Given the description of an element on the screen output the (x, y) to click on. 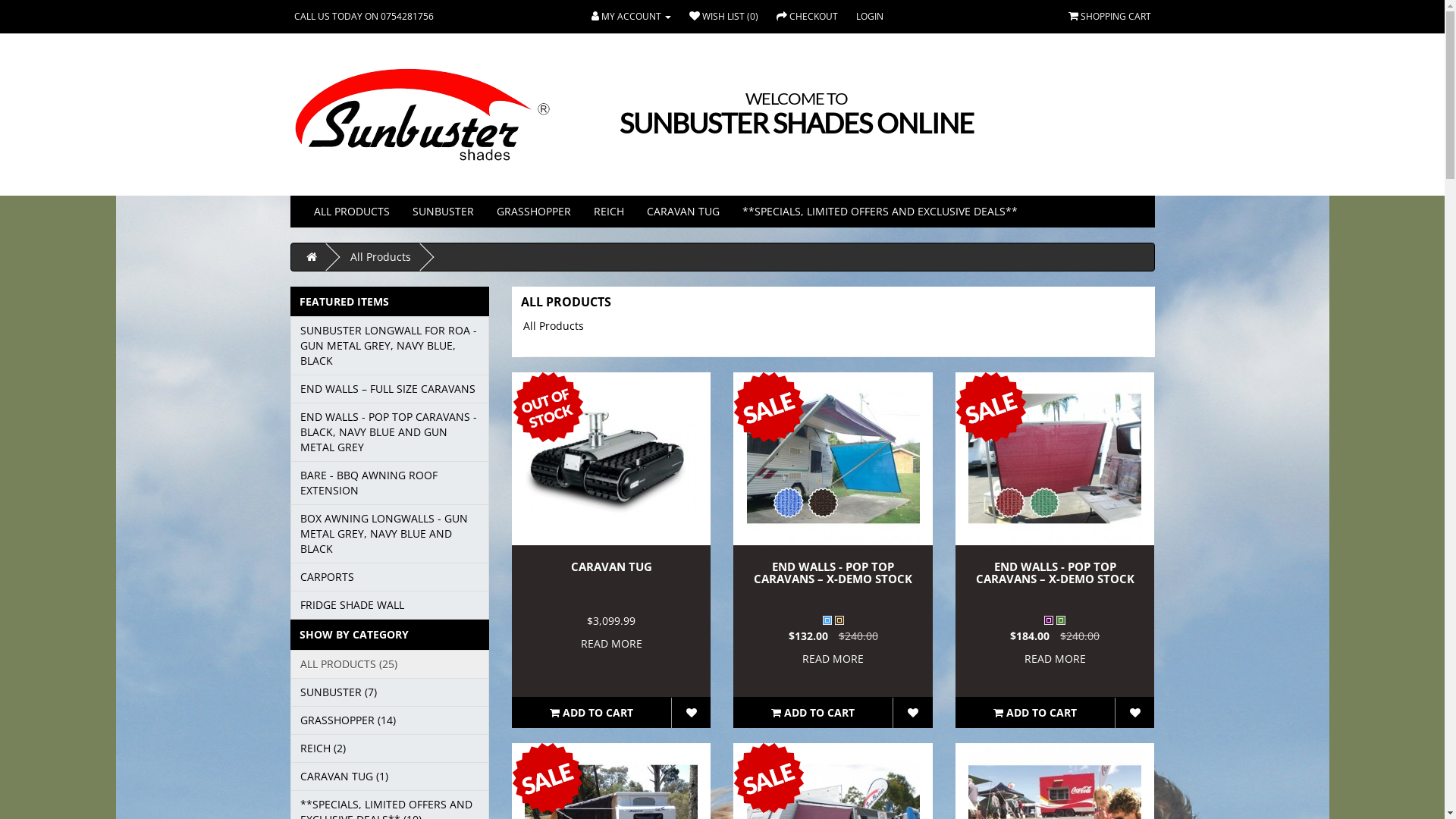
Deep Merlot Element type: hover (1048, 619)
GRASSHOPPER Element type: text (533, 211)
WISH LIST (0) Element type: text (723, 15)
ADD TO CART Element type: text (591, 712)
READ MORE Element type: text (832, 658)
ALL PRODUCTS Element type: text (350, 211)
GRASSHOPPER (14) Element type: text (389, 720)
READ MORE Element type: text (611, 643)
REICH (2) Element type: text (389, 748)
CARPORTS Element type: text (389, 576)
All Products Element type: text (380, 256)
Jade Green Element type: hover (1060, 619)
ADD TO CART Element type: text (812, 712)
SUNBUSTER Element type: text (442, 211)
ALL PRODUCTS (25) Element type: text (389, 663)
BARE - BBQ AWNING ROOF EXTENSION Element type: text (389, 483)
SUNBUSTER (7) Element type: text (389, 691)
MY ACCOUNT Element type: text (631, 15)
CARAVAN TUG Element type: text (611, 566)
BOX AWNING LONGWALLS - GUN METAL GREY, NAVY BLUE AND BLACK Element type: text (389, 533)
ADD TO CART Element type: text (1034, 712)
FRIDGE SHADE WALL Element type: text (389, 604)
Sunbuster Shades Element type: hover (421, 114)
Chocolate Element type: hover (839, 619)
CARAVAN TUG (1) Element type: text (389, 776)
SHOPPING CART Element type: text (1108, 15)
CALL US TODAY ON 0754281756 Element type: text (363, 15)
**SPECIALS, LIMITED OFFERS AND EXCLUSIVE DEALS** Element type: text (880, 211)
Sky Blue Element type: hover (826, 619)
Caravan Tug Element type: hover (610, 458)
CARAVAN TUG Element type: text (683, 211)
LOGIN Element type: text (869, 15)
CHECKOUT Element type: text (806, 15)
REICH Element type: text (608, 211)
READ MORE Element type: text (1054, 658)
